Given the description of an element on the screen output the (x, y) to click on. 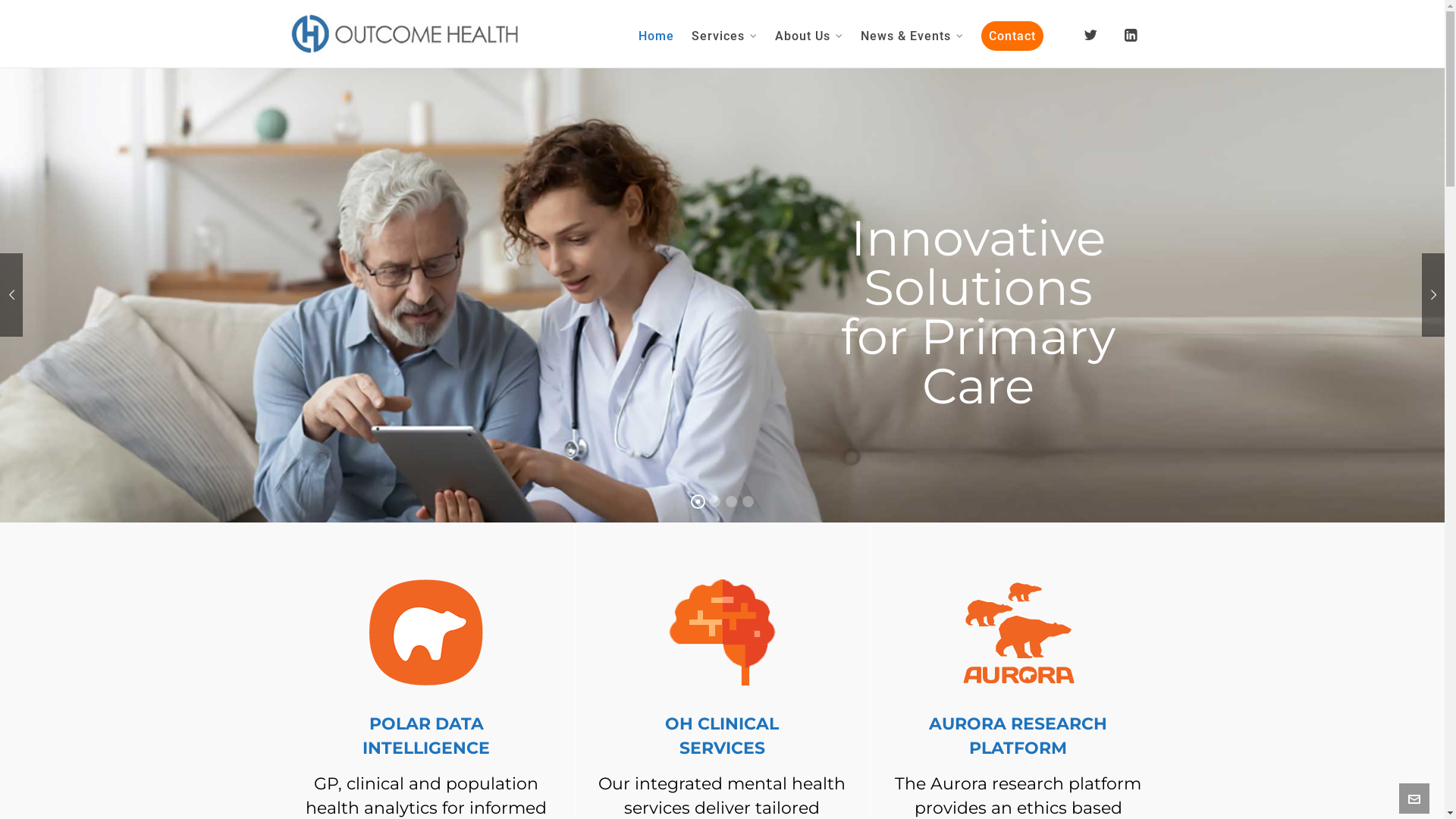
Home Element type: text (1025, 799)
Privacy Policy Element type: text (1080, 799)
03 8822 8444 Element type: text (797, 676)
Powered by W3 Productions. Element type: text (505, 799)
News & Events Element type: text (912, 34)
Home Element type: text (656, 34)
Services Element type: text (724, 34)
Contact Element type: text (1011, 34)
Contact Element type: text (1137, 799)
About Us Element type: text (808, 34)
